Given the description of an element on the screen output the (x, y) to click on. 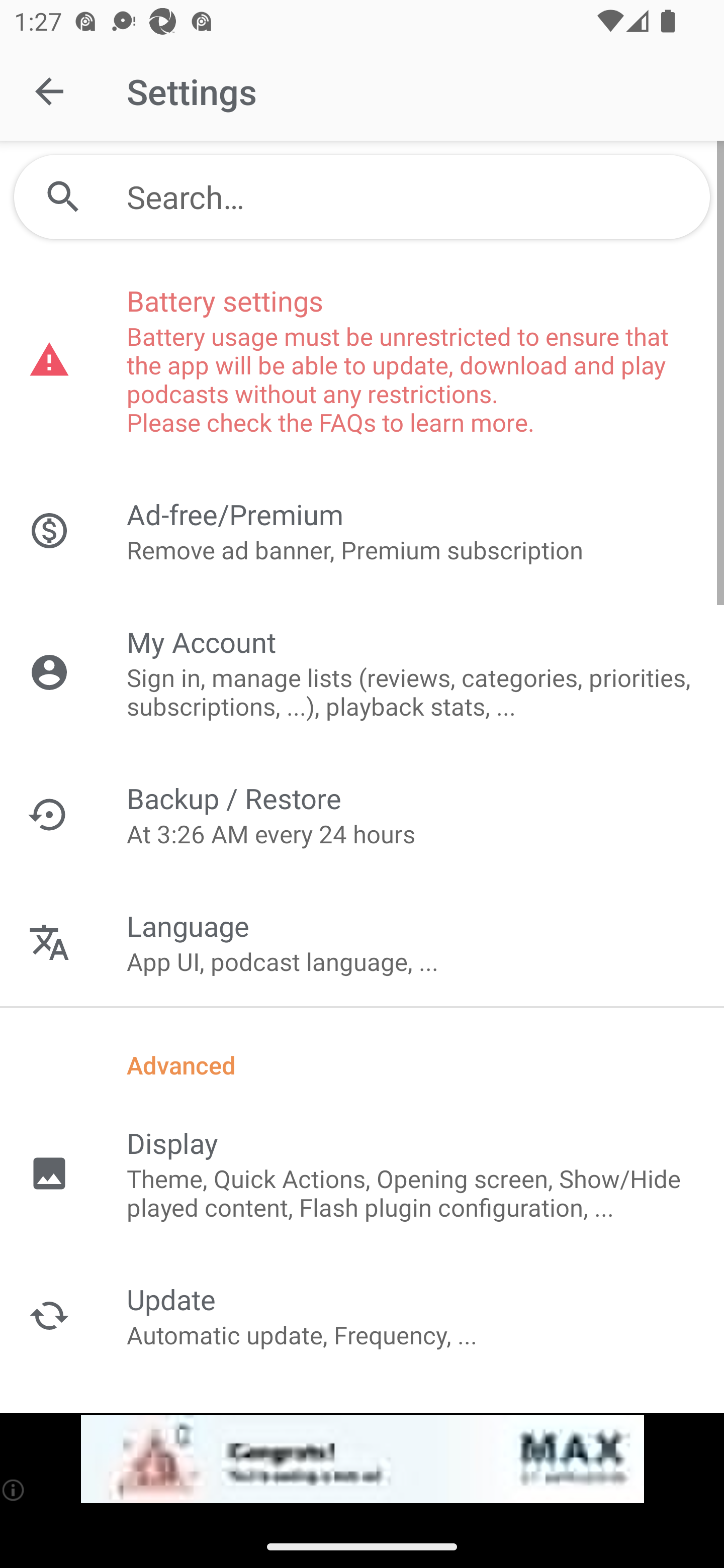
Navigate up (49, 91)
Search… (361, 197)
Search… (410, 196)
Backup / Restore At 3:26 AM every 24 hours (362, 814)
Language App UI, podcast language, ... (362, 942)
Update Automatic update, Frequency, ... (362, 1315)
app-monetization (362, 1459)
(i) (14, 1489)
